Given the description of an element on the screen output the (x, y) to click on. 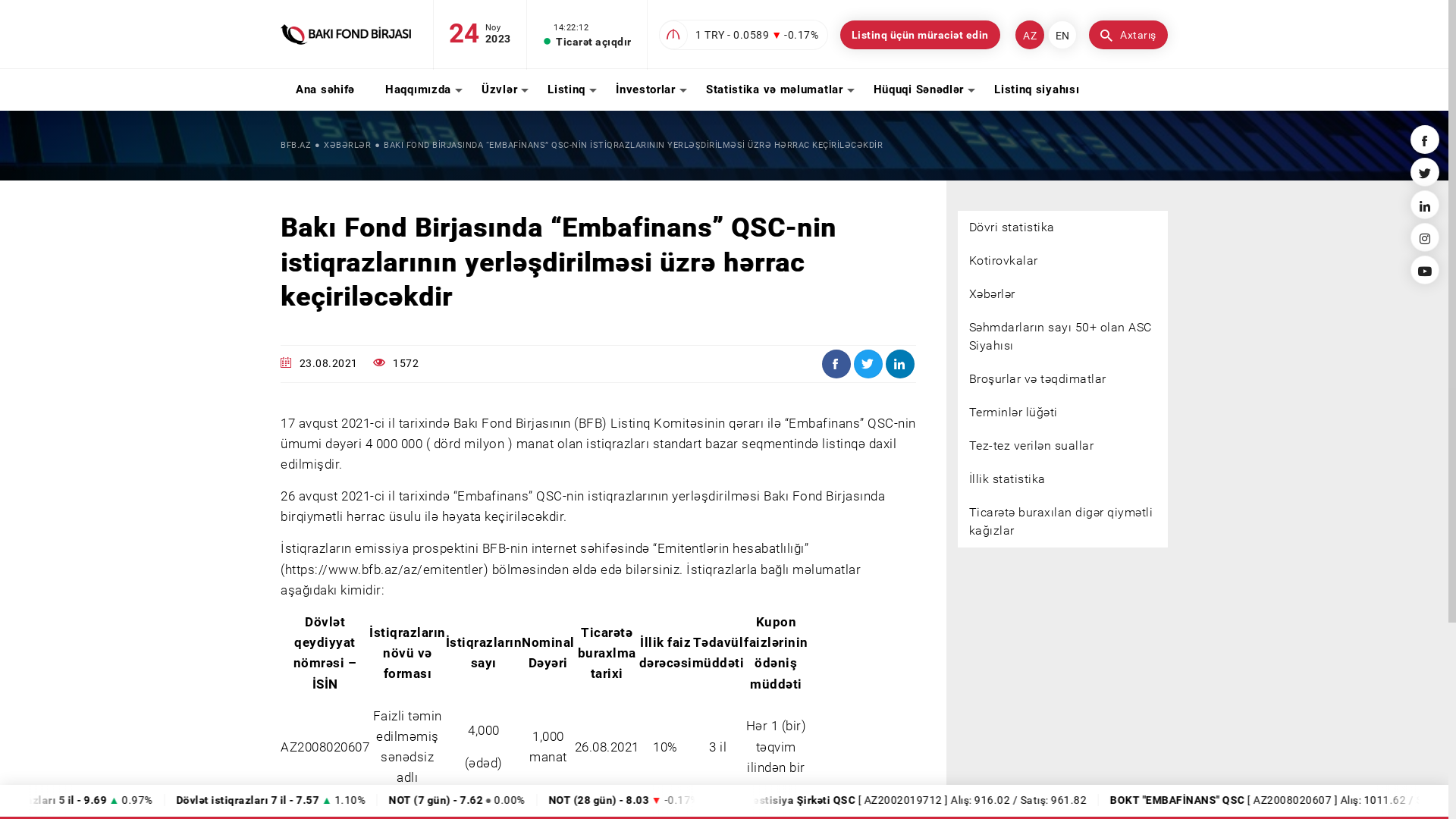
EN Element type: text (1062, 34)
BFB.AZ Element type: text (295, 145)
Bfb.az Element type: hover (345, 34)
AZ Element type: text (1029, 34)
Kotirovkalar Element type: text (1062, 260)
